Given the description of an element on the screen output the (x, y) to click on. 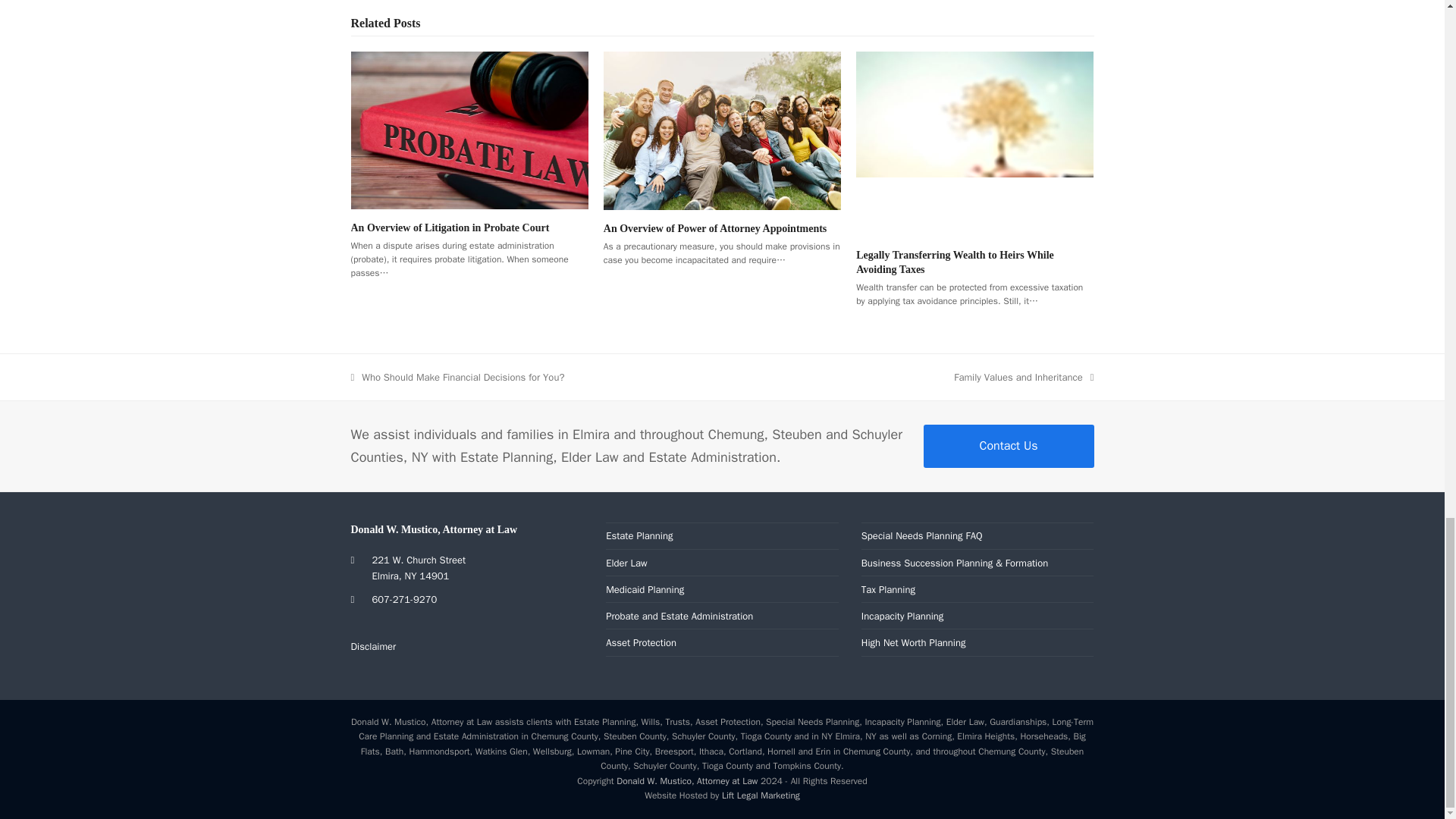
An Overview of Litigation in Probate Court (469, 128)
Legally Transferring Wealth to Heirs While Avoiding Taxes (974, 142)
An Overview of Power of Attorney Appointments (722, 129)
An Overview of Litigation in Probate Court (449, 227)
An Overview of Power of Attorney Appointments (715, 228)
